Given the description of an element on the screen output the (x, y) to click on. 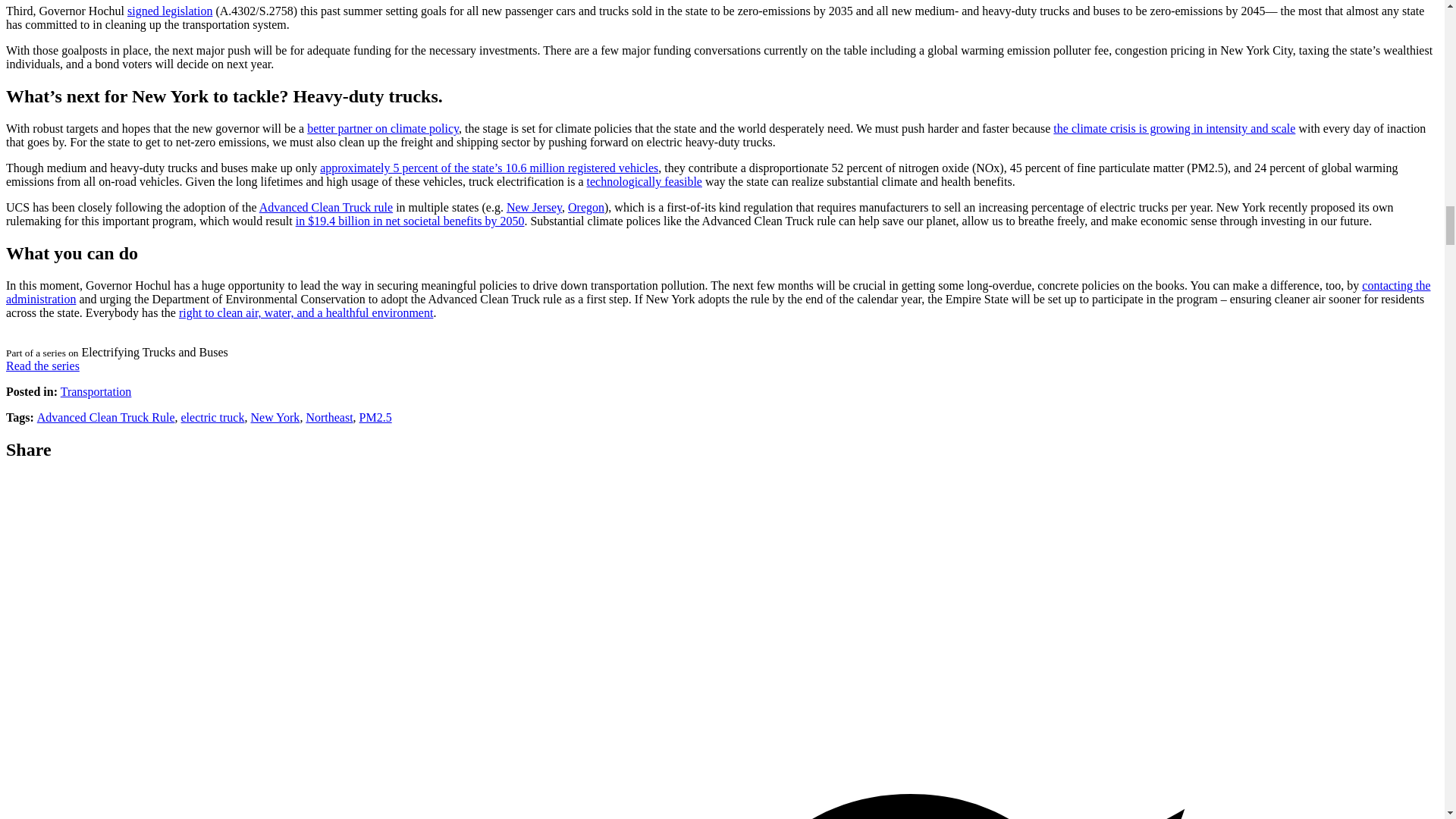
Read the series (42, 365)
Advanced Clean Truck rule (326, 206)
contacting the administration (718, 292)
signed legislation (170, 10)
the climate crisis is growing in intensity and scale (1173, 128)
better partner on climate policy (382, 128)
technologically feasible (643, 181)
right to clean air, water, and a healthful environment (305, 312)
Oregon (585, 206)
Transportation (96, 391)
